Given the description of an element on the screen output the (x, y) to click on. 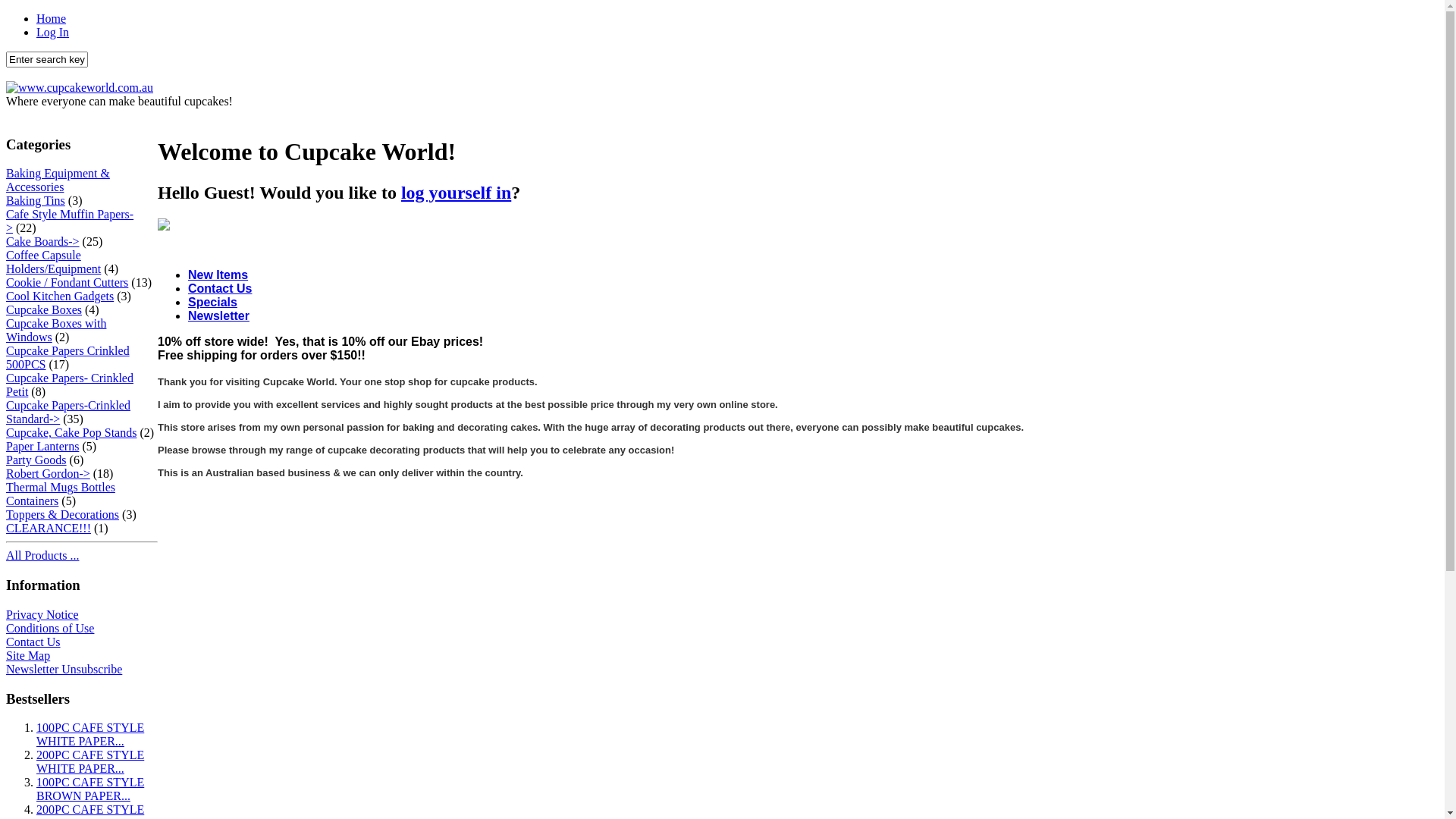
 www.cupcakeworld.com.au  Element type: hover (79, 87)
Cupcake Papers- Crinkled Petit Element type: text (69, 384)
Toppers & Decorations Element type: text (62, 514)
Cool Kitchen Gadgets Element type: text (59, 295)
Robert Gordon-> Element type: text (48, 473)
Cupcake, Cake Pop Stands Element type: text (71, 432)
Cupcake Papers Crinkled 500PCS Element type: text (67, 357)
Thermal Mugs Bottles Containers Element type: text (60, 493)
All Products ... Element type: text (42, 555)
Conditions of Use Element type: text (50, 627)
Contact Us Element type: text (219, 288)
Cupcake Boxes with Windows Element type: text (56, 329)
Newsletter Unsubscribe Element type: text (64, 668)
100PC CAFE STYLE BROWN PAPER... Element type: text (90, 788)
200PC CAFE STYLE WHITE PAPER... Element type: text (90, 761)
Cupcake Papers-Crinkled Standard-> Element type: text (68, 411)
Cafe Style Muffin Papers-> Element type: text (69, 220)
Baking Tins Element type: text (35, 200)
Baking Equipment & Accessories Element type: text (57, 179)
Privacy Notice Element type: text (42, 614)
Home Element type: text (50, 18)
Contact Us Element type: text (33, 641)
Newsletter Element type: text (218, 315)
Specials Element type: text (212, 301)
CLEARANCE!!! Element type: text (48, 527)
Paper Lanterns Element type: text (42, 445)
log yourself in Element type: text (456, 192)
Log In Element type: text (52, 31)
Cupcake Boxes Element type: text (43, 309)
Coffee Capsule Holders/Equipment Element type: text (53, 261)
Party Goods Element type: text (36, 459)
Cake Boards-> Element type: text (42, 241)
Site Map Element type: text (28, 655)
100PC CAFE STYLE WHITE PAPER... Element type: text (90, 734)
New Items Element type: text (217, 274)
Cookie / Fondant Cutters Element type: text (67, 282)
